Given the description of an element on the screen output the (x, y) to click on. 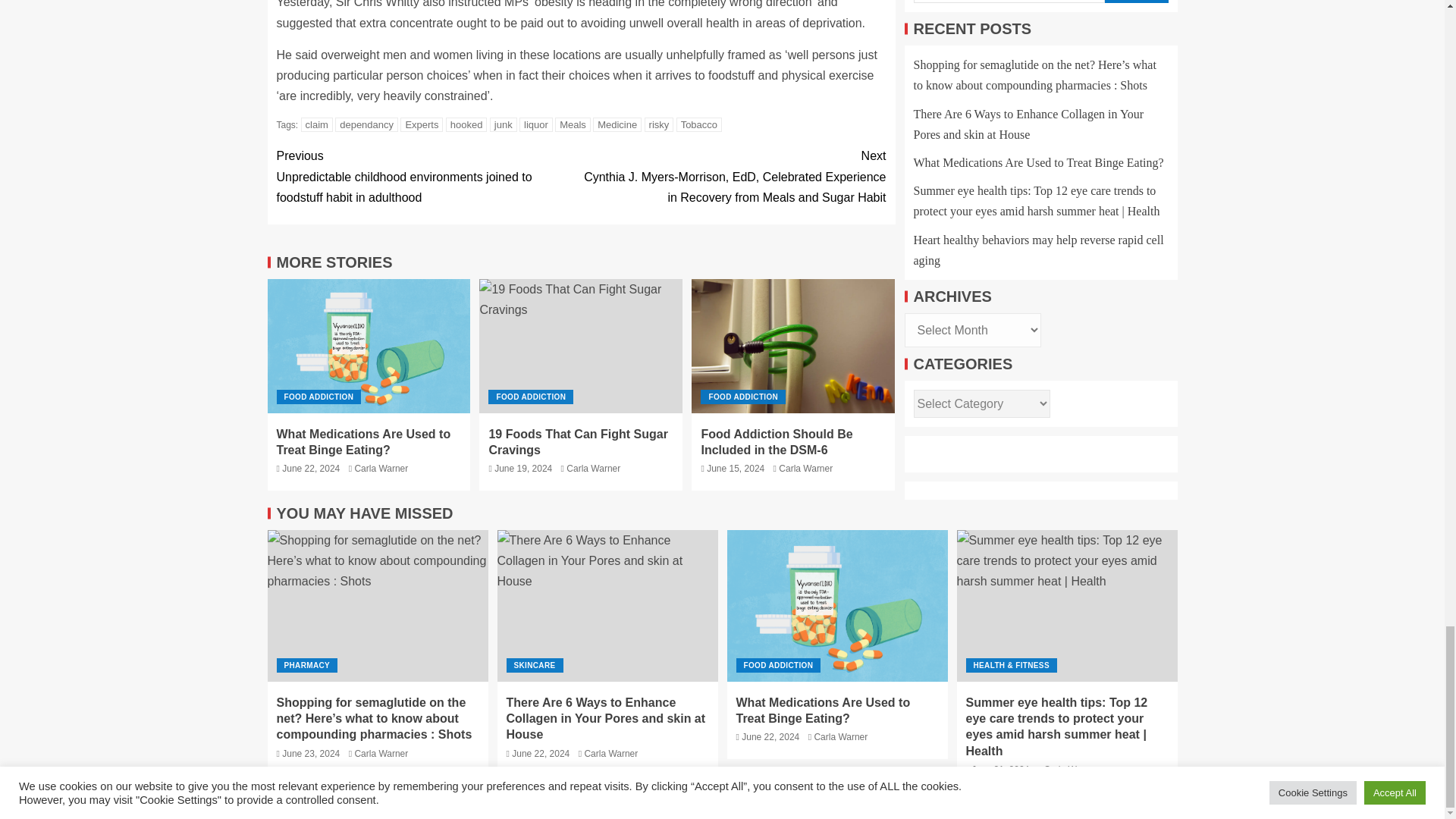
risky (659, 124)
Food Addiction Should Be Included in the DSM-6 (793, 346)
Carla Warner (380, 468)
FOOD ADDICTION (318, 396)
dependancy (365, 124)
What Medications Are Used to Treat Binge Eating? (362, 441)
19 Foods That Can Fight Sugar Cravings (580, 346)
Tobacco (699, 124)
liquor (536, 124)
Experts (421, 124)
claim (317, 124)
What Medications Are Used to Treat Binge Eating? (368, 346)
